Given the description of an element on the screen output the (x, y) to click on. 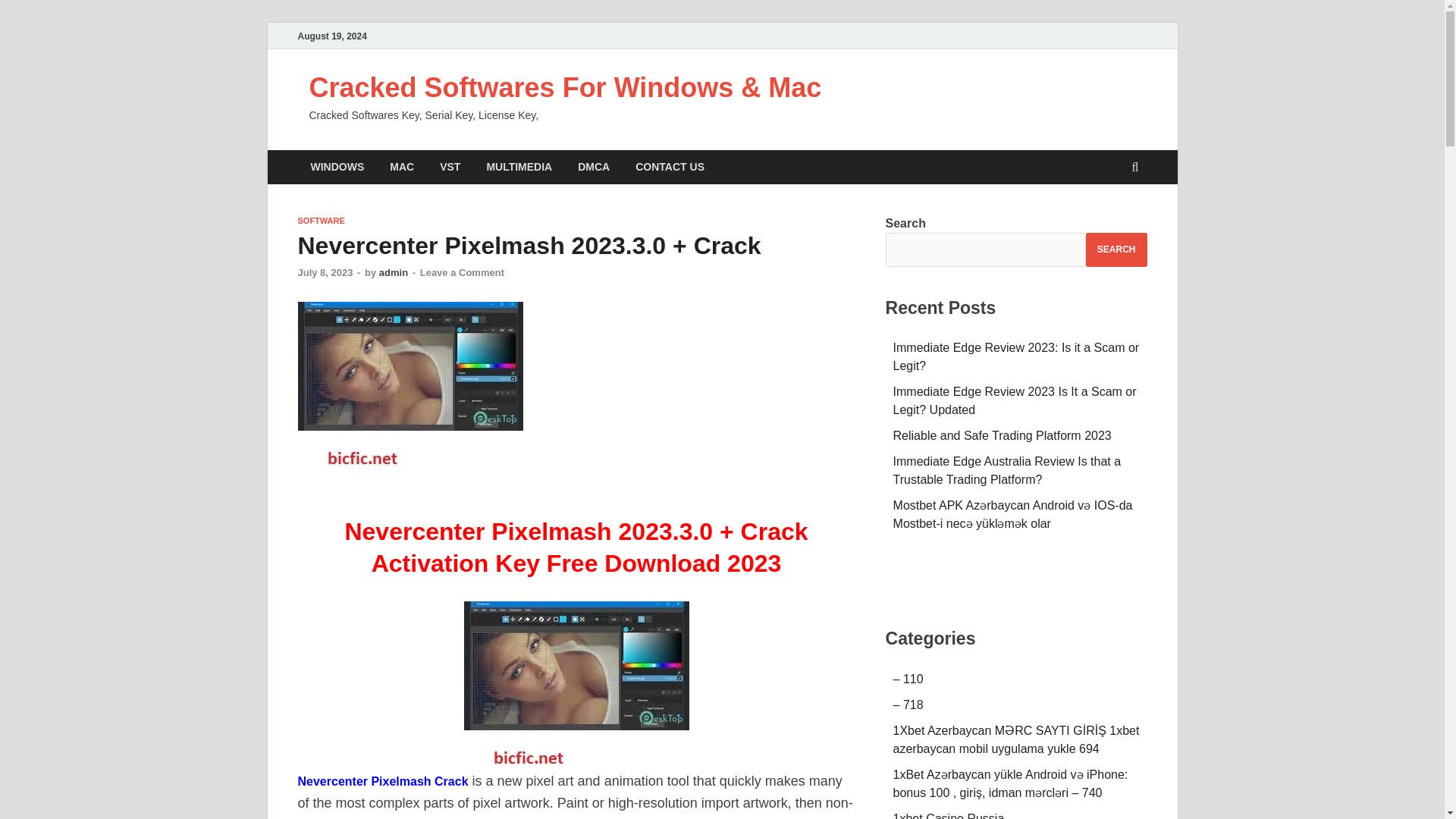
admin (392, 272)
WINDOWS (337, 166)
MULTIMEDIA (518, 166)
July 8, 2023 (324, 272)
Nevercenter Pixelmash Crack (382, 780)
Leave a Comment (461, 272)
VST (449, 166)
SOFTWARE (320, 220)
CONTACT US (670, 166)
DMCA (593, 166)
